Given the description of an element on the screen output the (x, y) to click on. 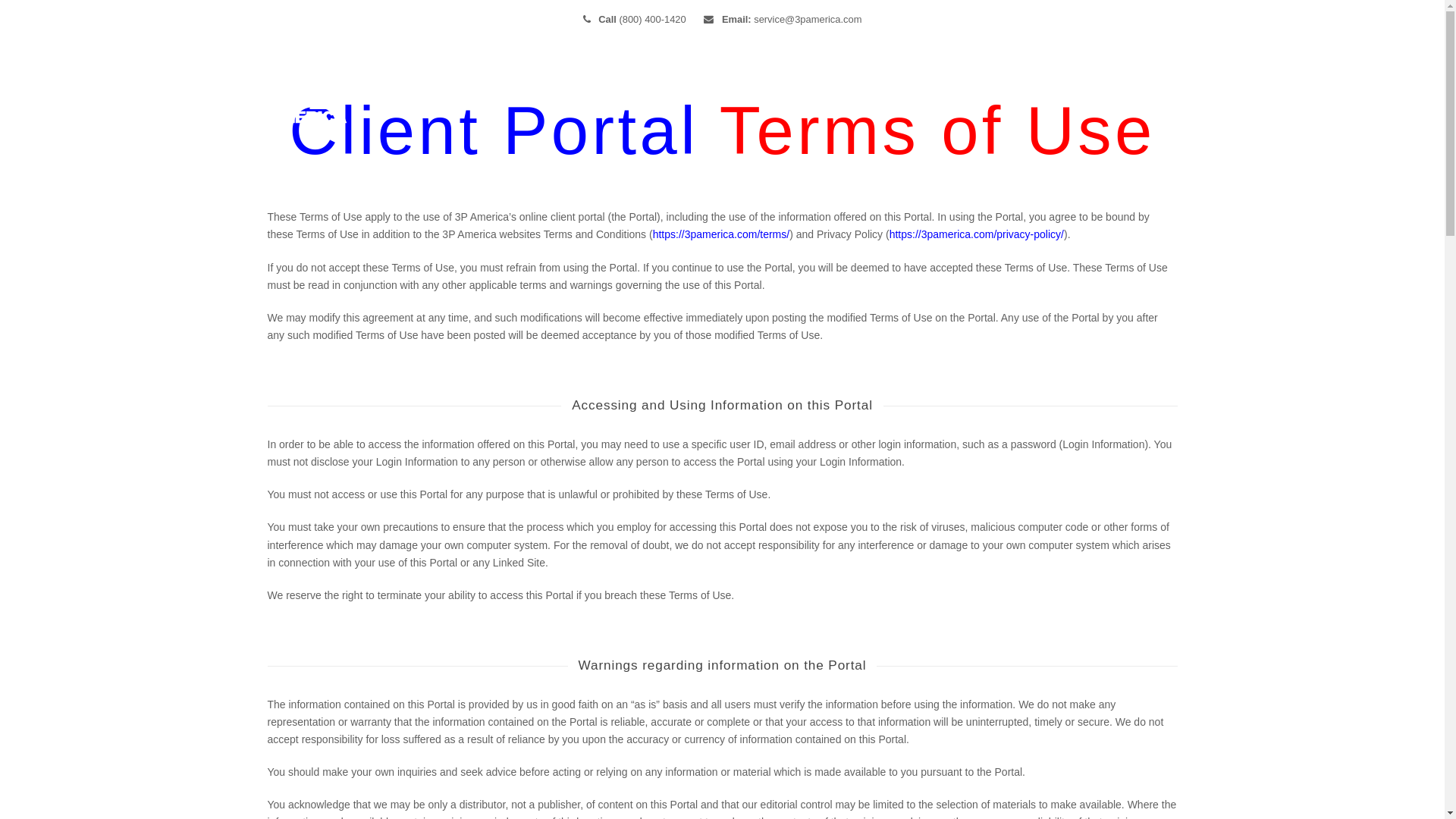
https://3pamerica.com/privacy-policy/ Element type: text (976, 234)
FAQ Element type: text (987, 95)
Contact Element type: text (1050, 95)
https://3pamerica.com/terms/ Element type: text (721, 234)
News Element type: text (929, 95)
3P Smart Verify Element type: text (842, 95)
Service Portal Element type: text (1139, 95)
